Given the description of an element on the screen output the (x, y) to click on. 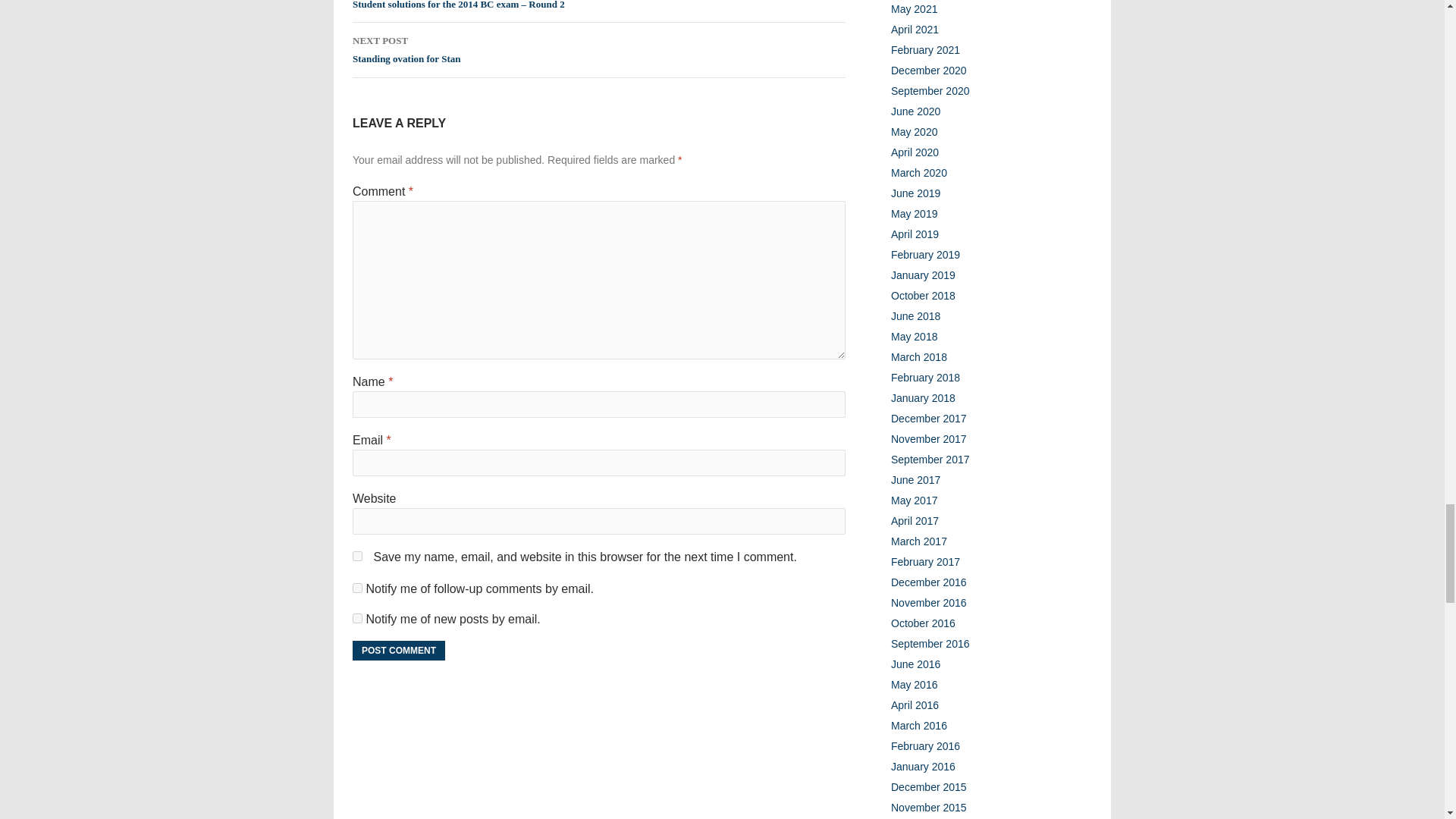
Post Comment (398, 650)
subscribe (357, 587)
yes (357, 556)
subscribe (357, 618)
